Given the description of an element on the screen output the (x, y) to click on. 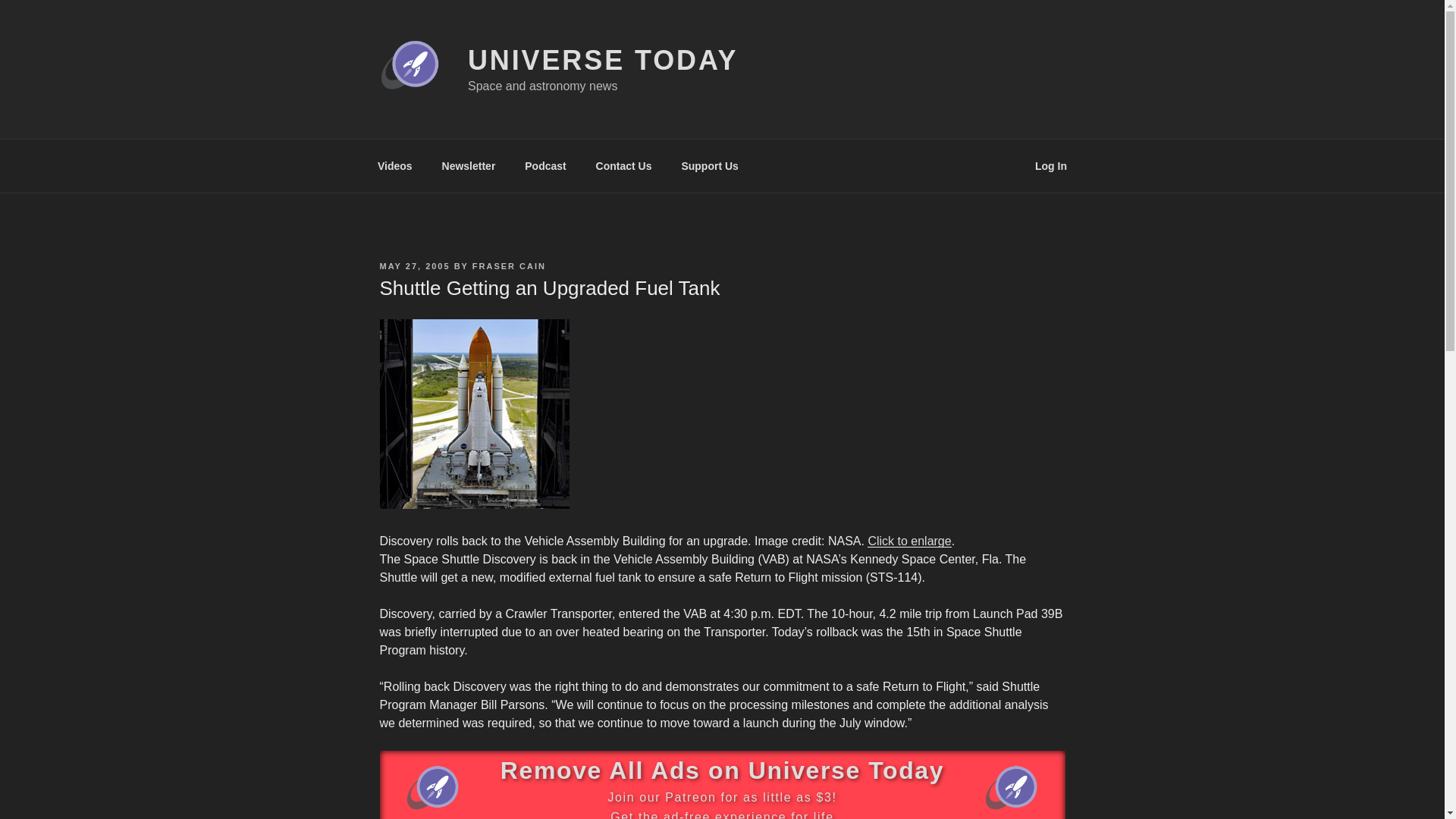
Log In (1051, 165)
MAY 27, 2005 (413, 266)
Contact Us (623, 165)
Videos (394, 165)
Podcast (545, 165)
FRASER CAIN (508, 266)
UNIVERSE TODAY (602, 60)
Click to enlarge (908, 540)
Newsletter (468, 165)
Support Us (709, 165)
